Given the description of an element on the screen output the (x, y) to click on. 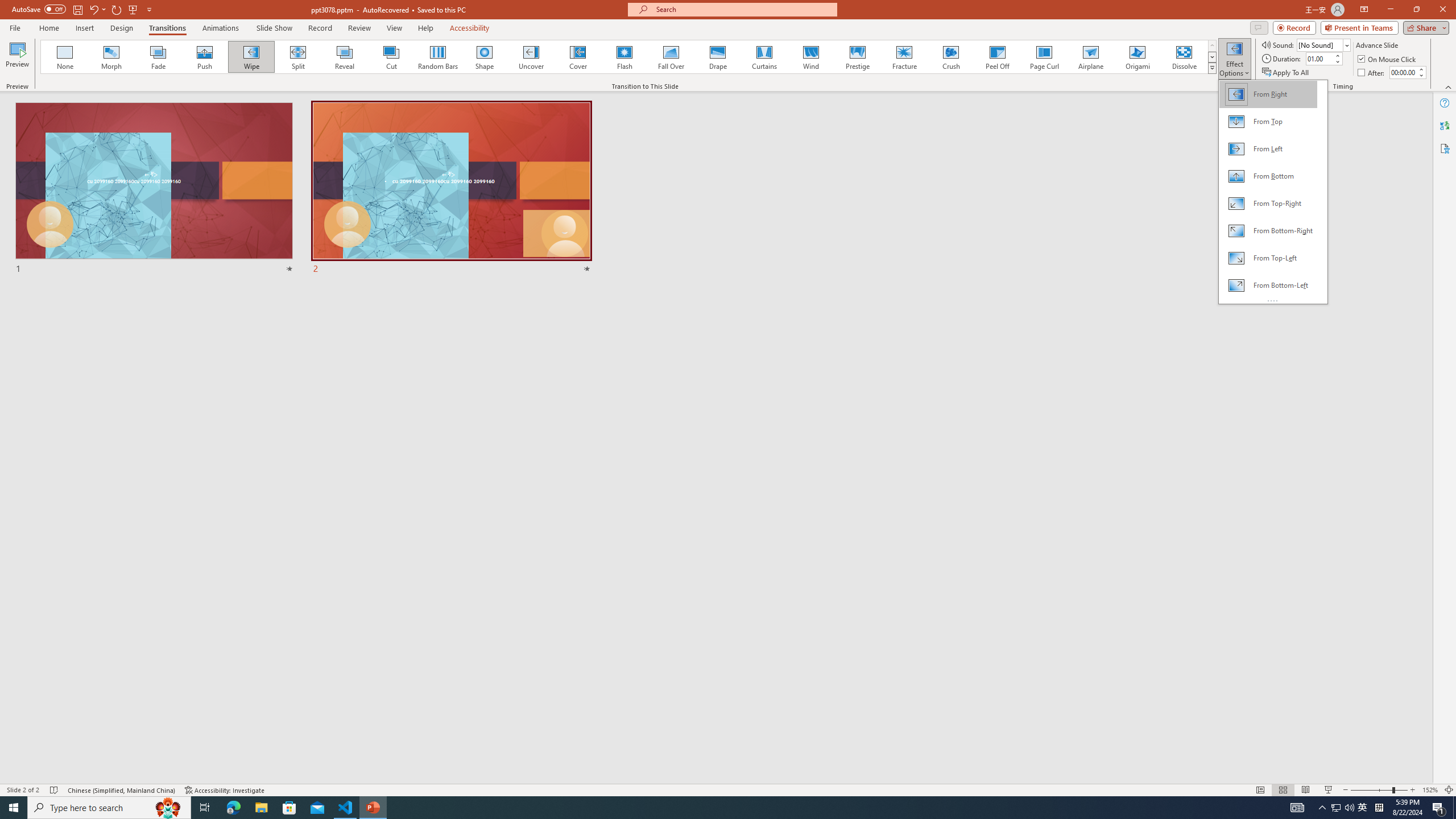
AutomationID: AnimationTransitionGallery (628, 56)
Push (205, 56)
Sound (1324, 44)
